Given the description of an element on the screen output the (x, y) to click on. 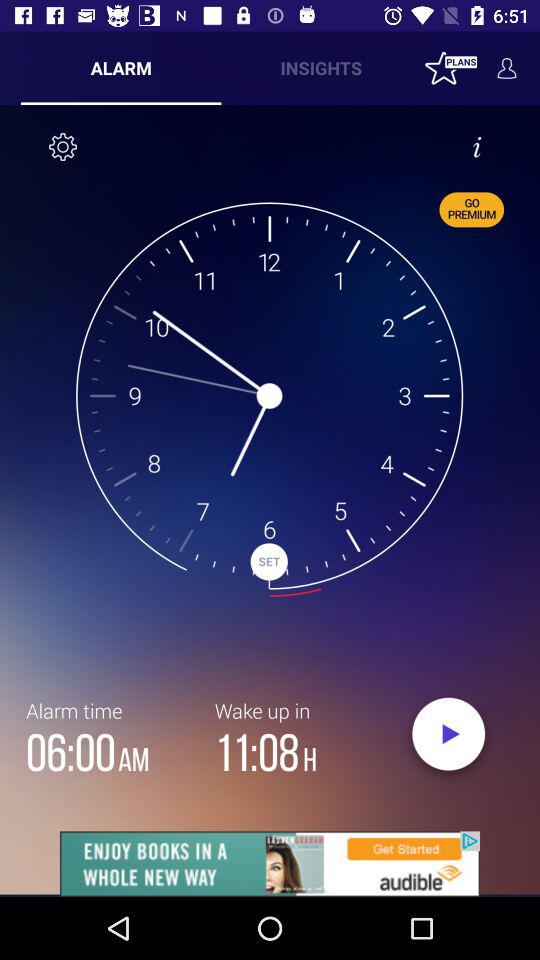
inforamation about time (477, 147)
